Given the description of an element on the screen output the (x, y) to click on. 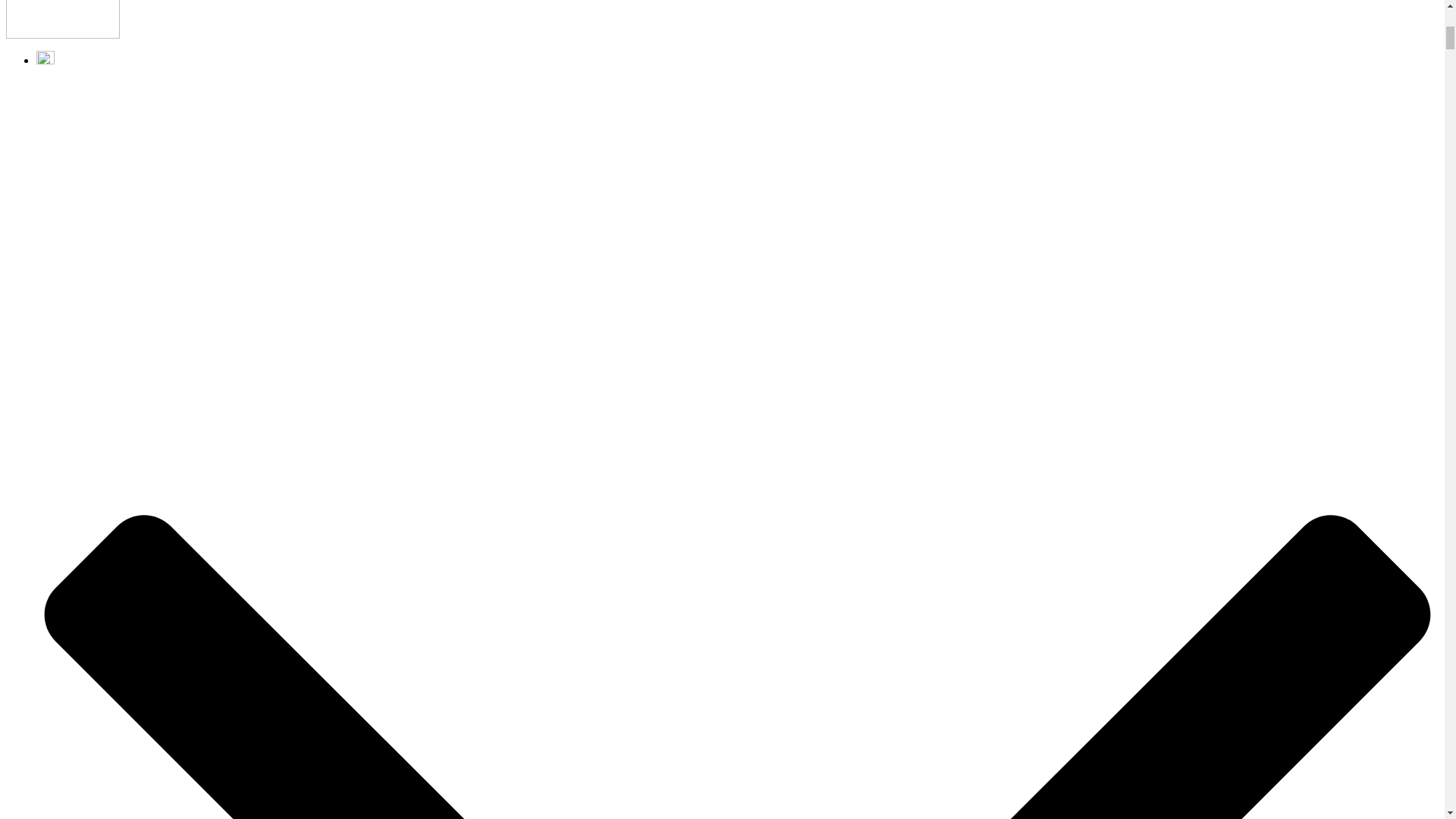
GuruWalk - Die besten Free Tours rund um die Welt (62, 33)
